Given the description of an element on the screen output the (x, y) to click on. 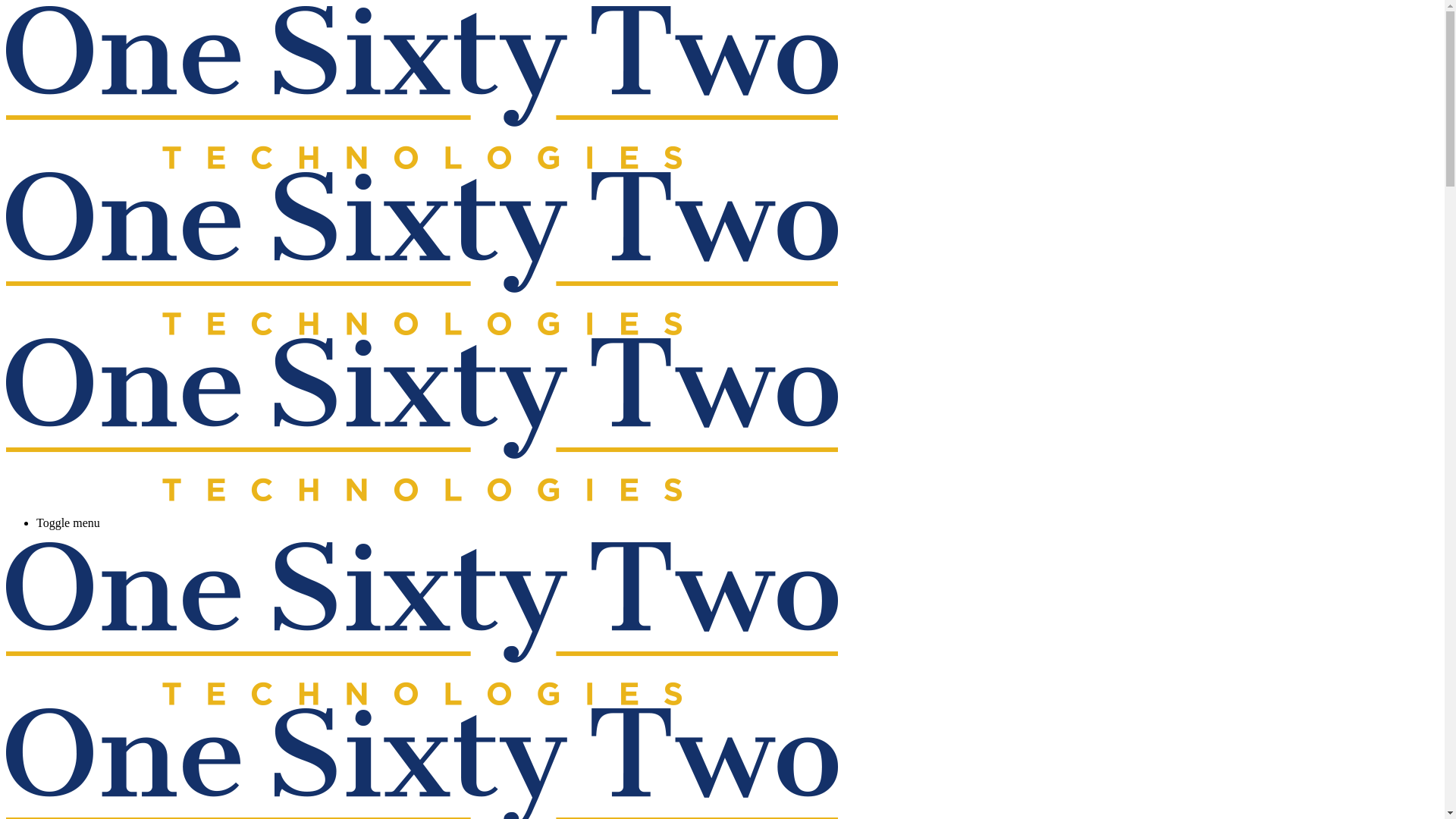
Toggle menu Element type: text (737, 523)
